Given the description of an element on the screen output the (x, y) to click on. 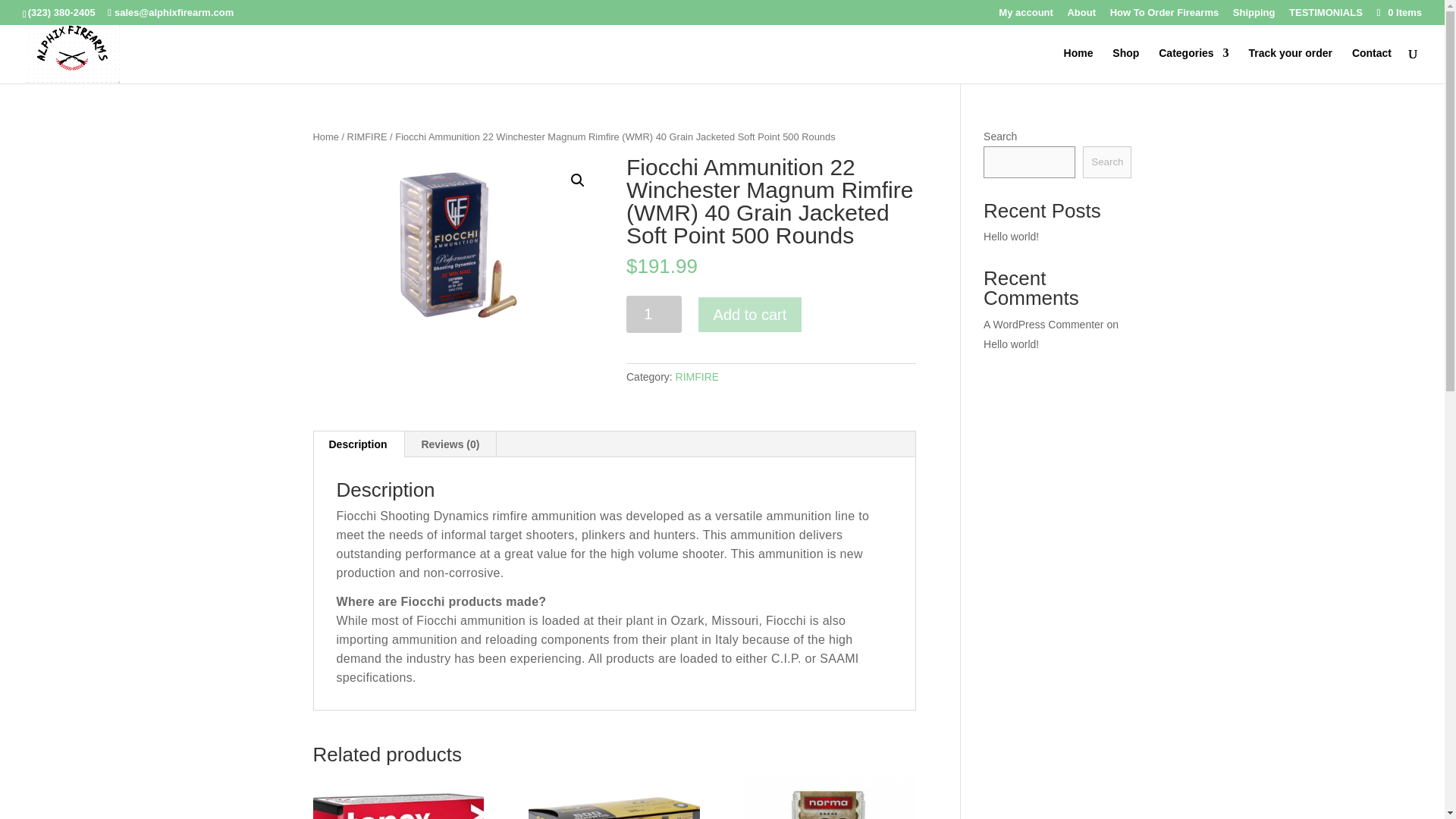
My account (1025, 16)
How To Order Firearms (1164, 16)
Categories (1193, 65)
About (1081, 16)
Track your order (1289, 65)
Contact (1371, 65)
0 Items (1398, 12)
Shipping (1254, 16)
1 (653, 313)
TESTIMONIALS (1325, 16)
